Given the description of an element on the screen output the (x, y) to click on. 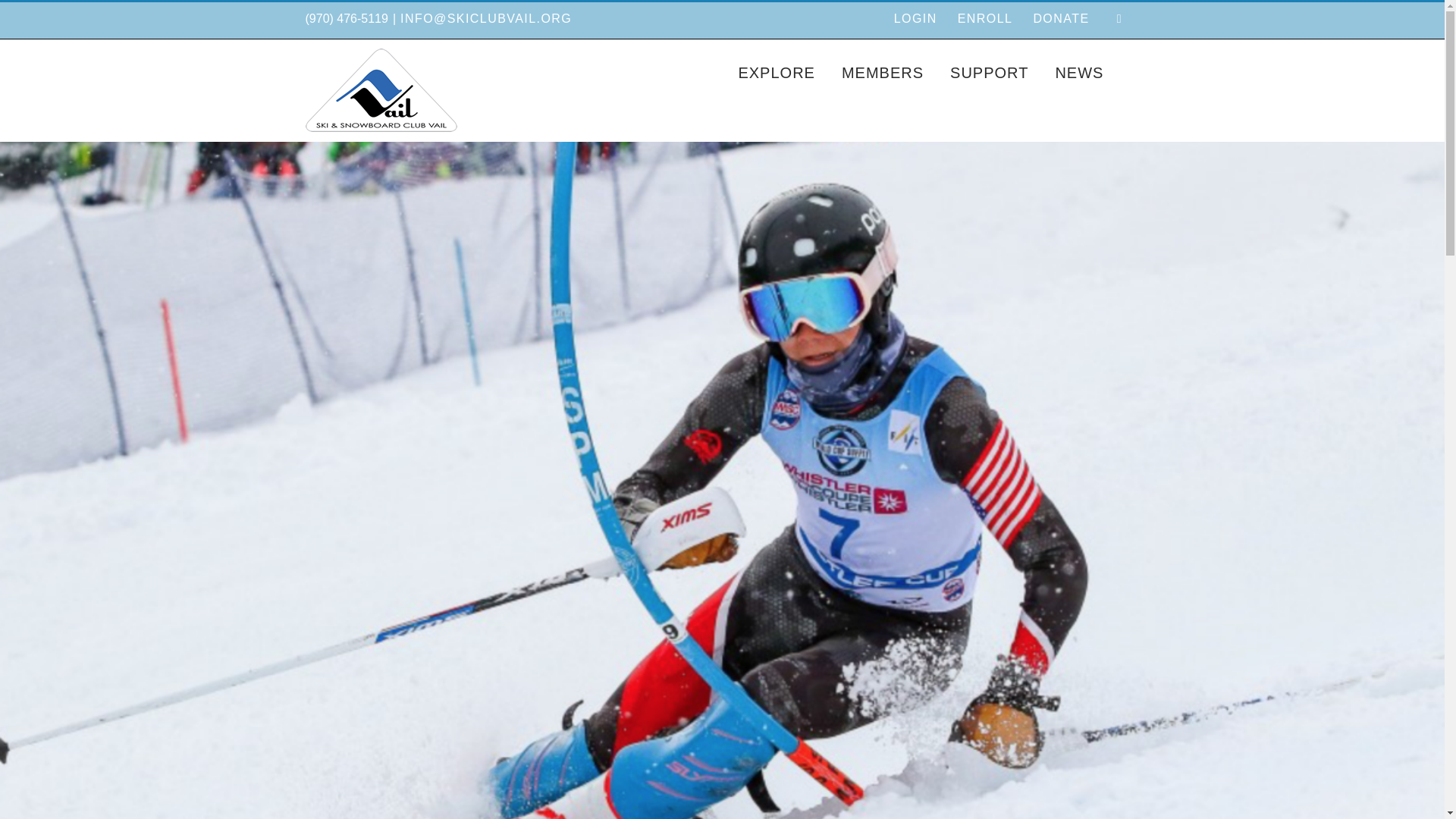
ENROLL (985, 19)
DONATE (1061, 19)
LOGIN (915, 19)
EXPLORE (775, 71)
